Given the description of an element on the screen output the (x, y) to click on. 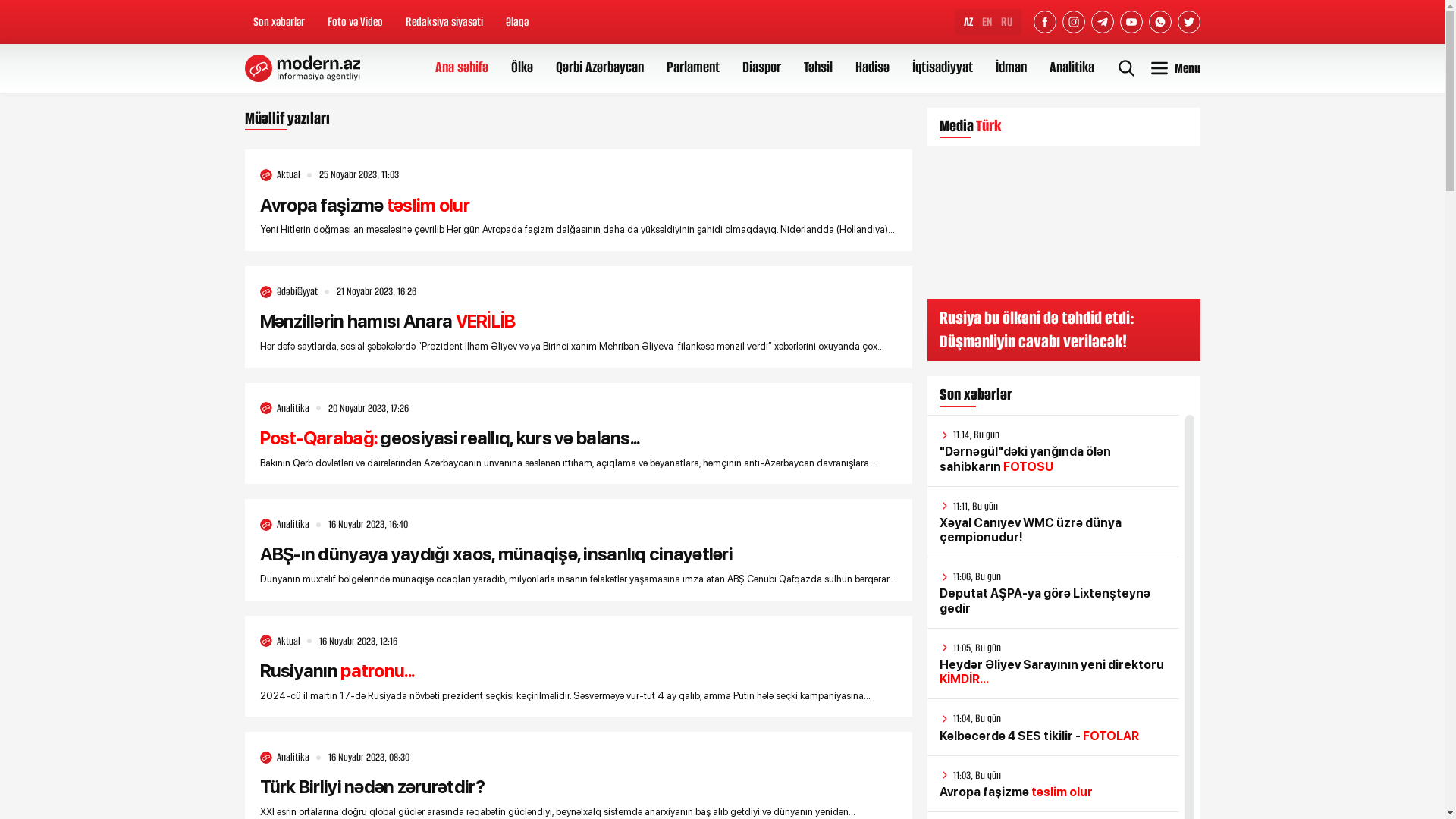
Parlament Element type: text (691, 67)
Analitika Element type: text (1071, 67)
Diaspor Element type: text (760, 67)
RU Element type: text (1006, 21)
EN Element type: text (986, 21)
AZ Element type: text (967, 21)
